Given the description of an element on the screen output the (x, y) to click on. 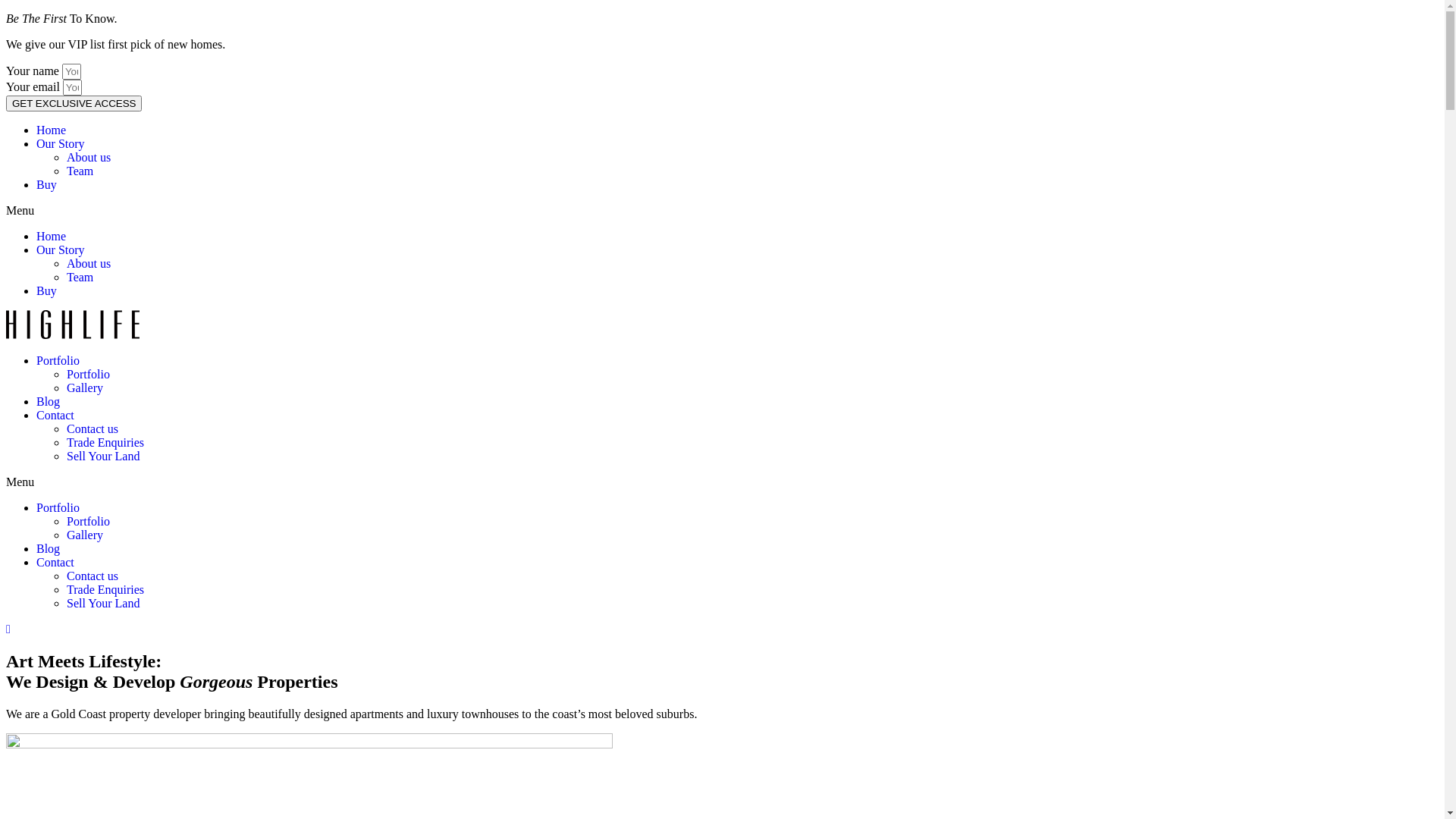
Skip to content Element type: text (5, 11)
About us Element type: text (88, 263)
Sell Your Land Element type: text (102, 455)
Contact Element type: text (55, 561)
GET EXCLUSIVE ACCESS Element type: text (73, 103)
Team Element type: text (79, 170)
About us Element type: text (88, 156)
Blog Element type: text (47, 548)
Team Element type: text (79, 276)
Gallery Element type: text (84, 534)
Our Story Element type: text (60, 143)
Trade Enquiries Element type: text (105, 589)
Trade Enquiries Element type: text (105, 442)
Contact us Element type: text (92, 428)
Home Element type: text (50, 235)
Contact us Element type: text (92, 575)
Portfolio Element type: text (57, 360)
Blog Element type: text (47, 401)
Buy Element type: text (46, 290)
Portfolio Element type: text (87, 373)
Buy Element type: text (46, 184)
Home Element type: text (50, 129)
Contact Element type: text (55, 414)
Sell Your Land Element type: text (102, 602)
Portfolio Element type: text (57, 507)
Gallery Element type: text (84, 387)
Portfolio Element type: text (87, 520)
Our Story Element type: text (60, 249)
